Given the description of an element on the screen output the (x, y) to click on. 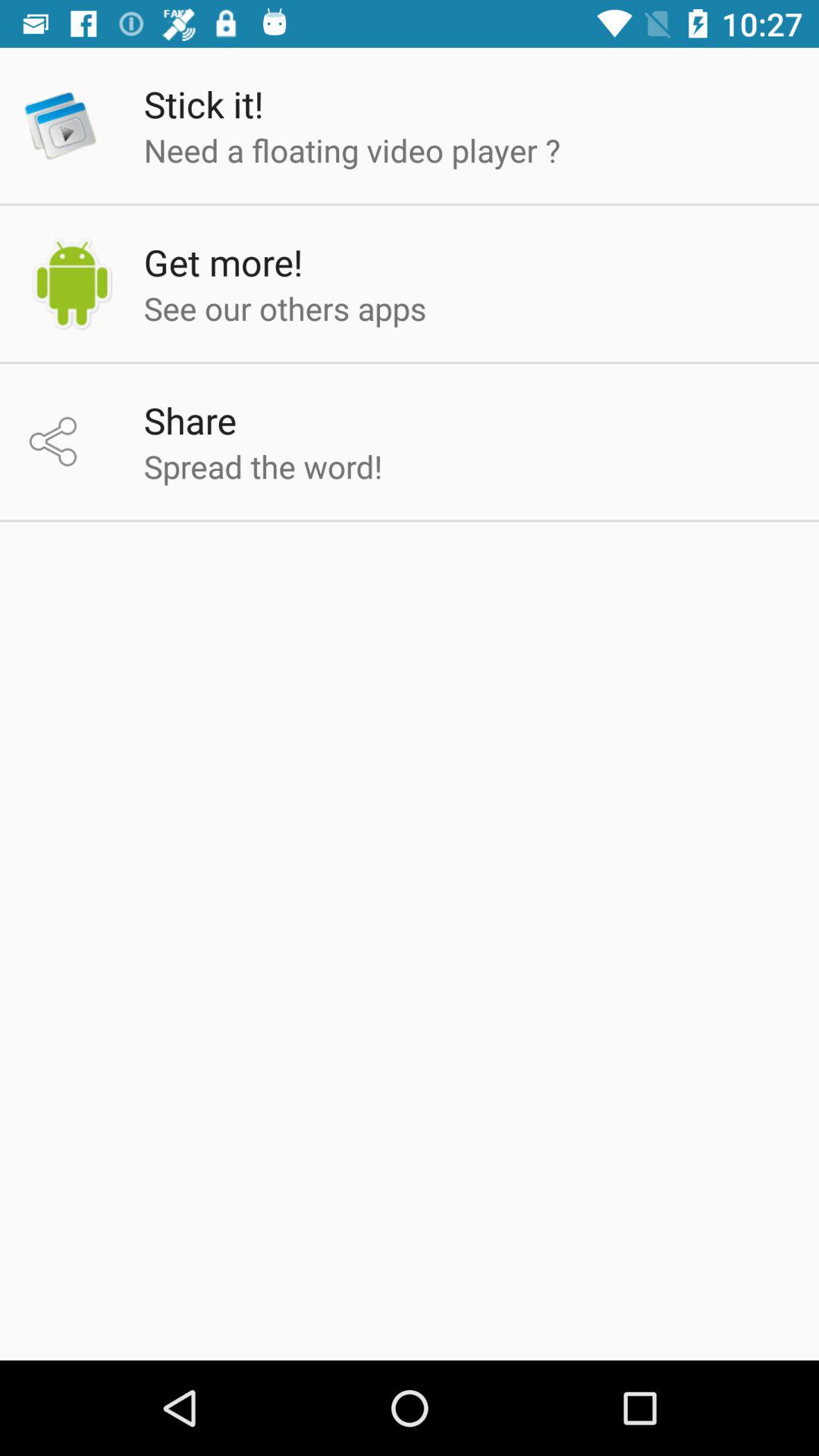
choose the app above get more! app (351, 149)
